Given the description of an element on the screen output the (x, y) to click on. 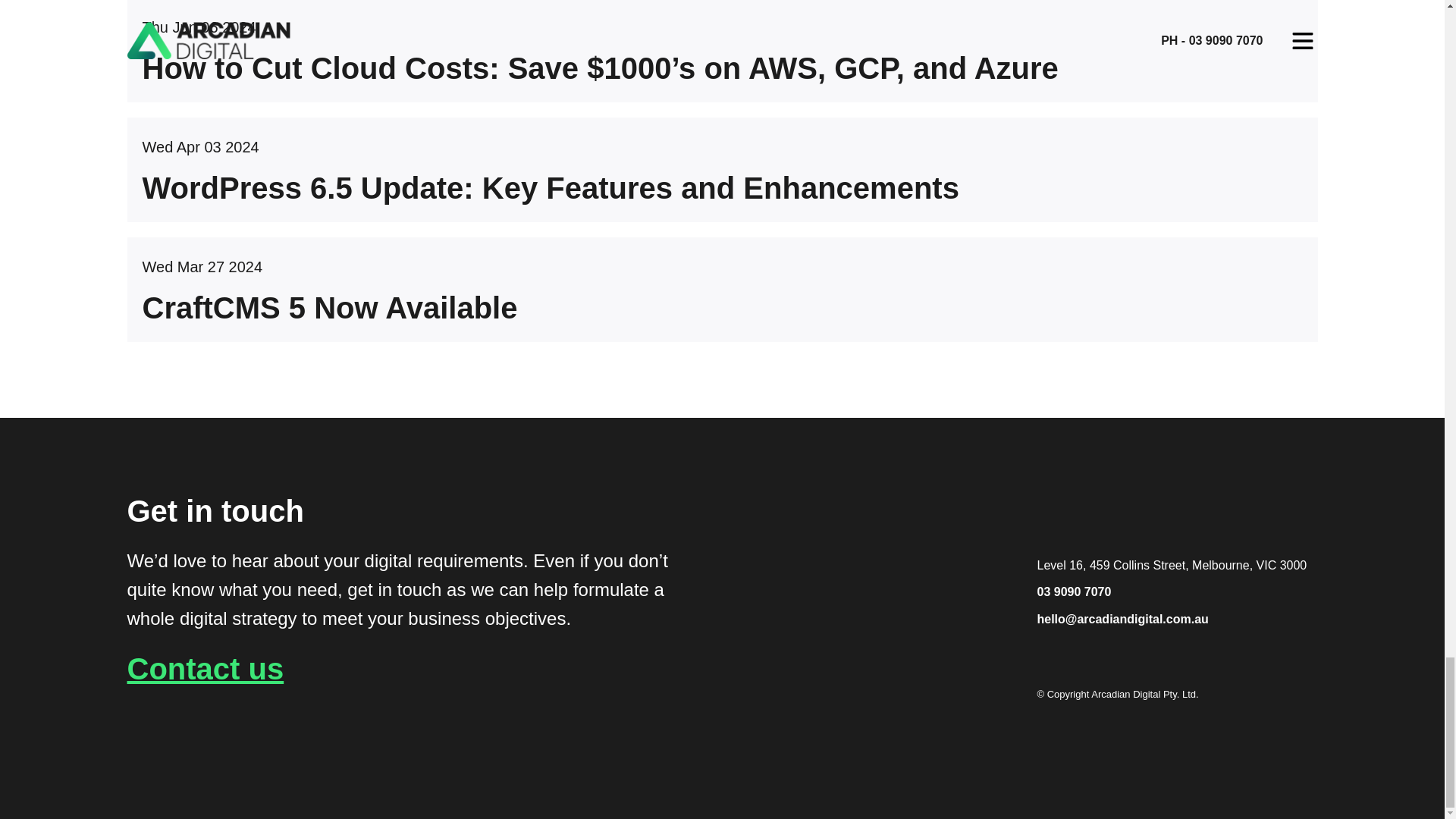
03 9090 7070 (1074, 591)
WordPress 6.5 Update: Key Features and Enhancements (722, 204)
CraftCMS 5 Now Available (722, 324)
Contact us (205, 668)
